Given the description of an element on the screen output the (x, y) to click on. 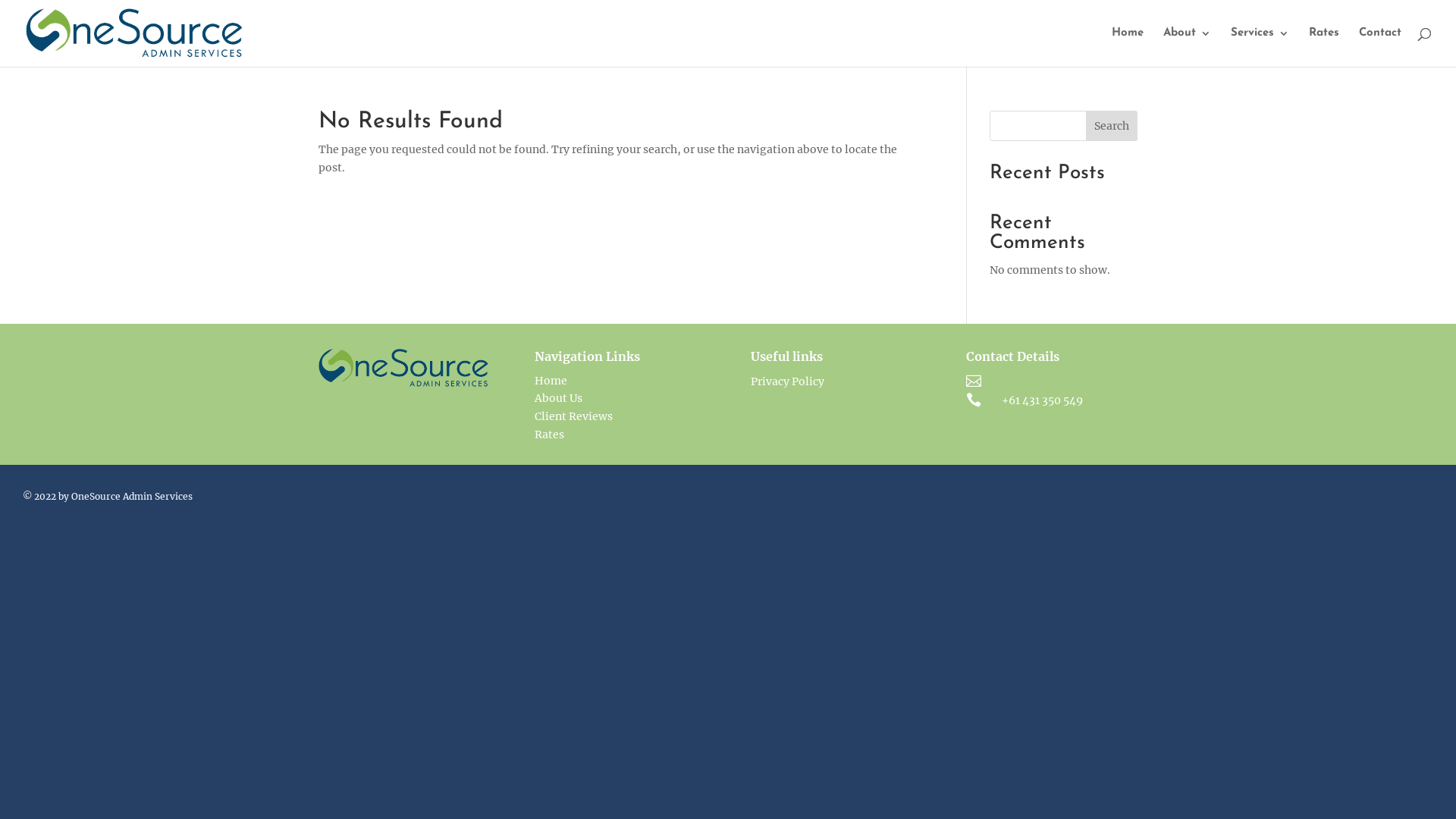
Rates Element type: text (549, 434)
Client Reviews Element type: text (573, 416)
OneSource_Colour_Medium Element type: hover (403, 368)
Home Element type: text (550, 380)
Privacy Policy Element type: text (787, 381)
About Element type: text (1187, 47)
Search Element type: text (1111, 125)
About Us Element type: text (558, 397)
Home Element type: text (1127, 47)
Services Element type: text (1259, 47)
Contact Element type: text (1379, 47)
Rates Element type: text (1323, 47)
